Given the description of an element on the screen output the (x, y) to click on. 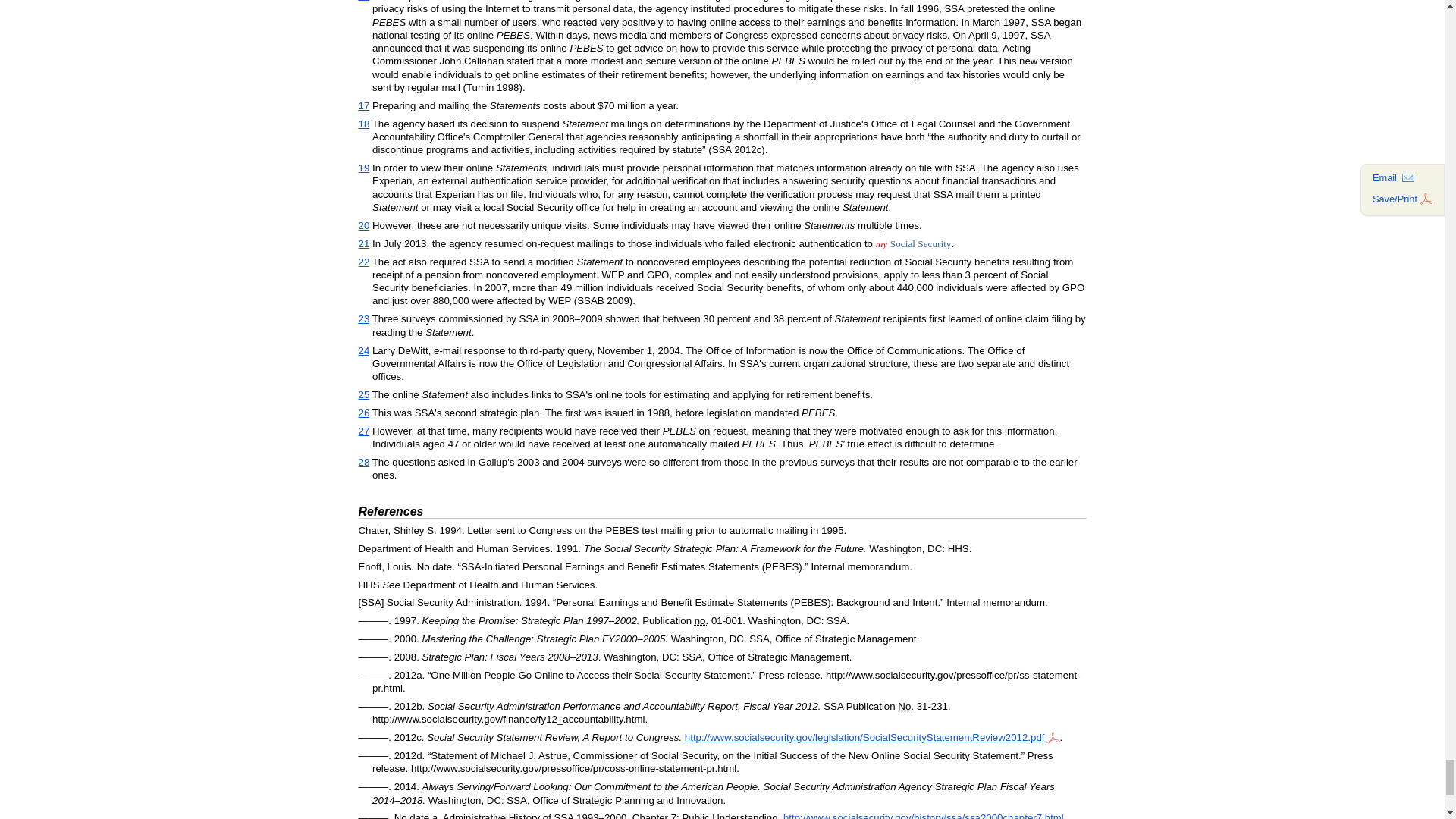
Number (906, 706)
number (700, 620)
